Given the description of an element on the screen output the (x, y) to click on. 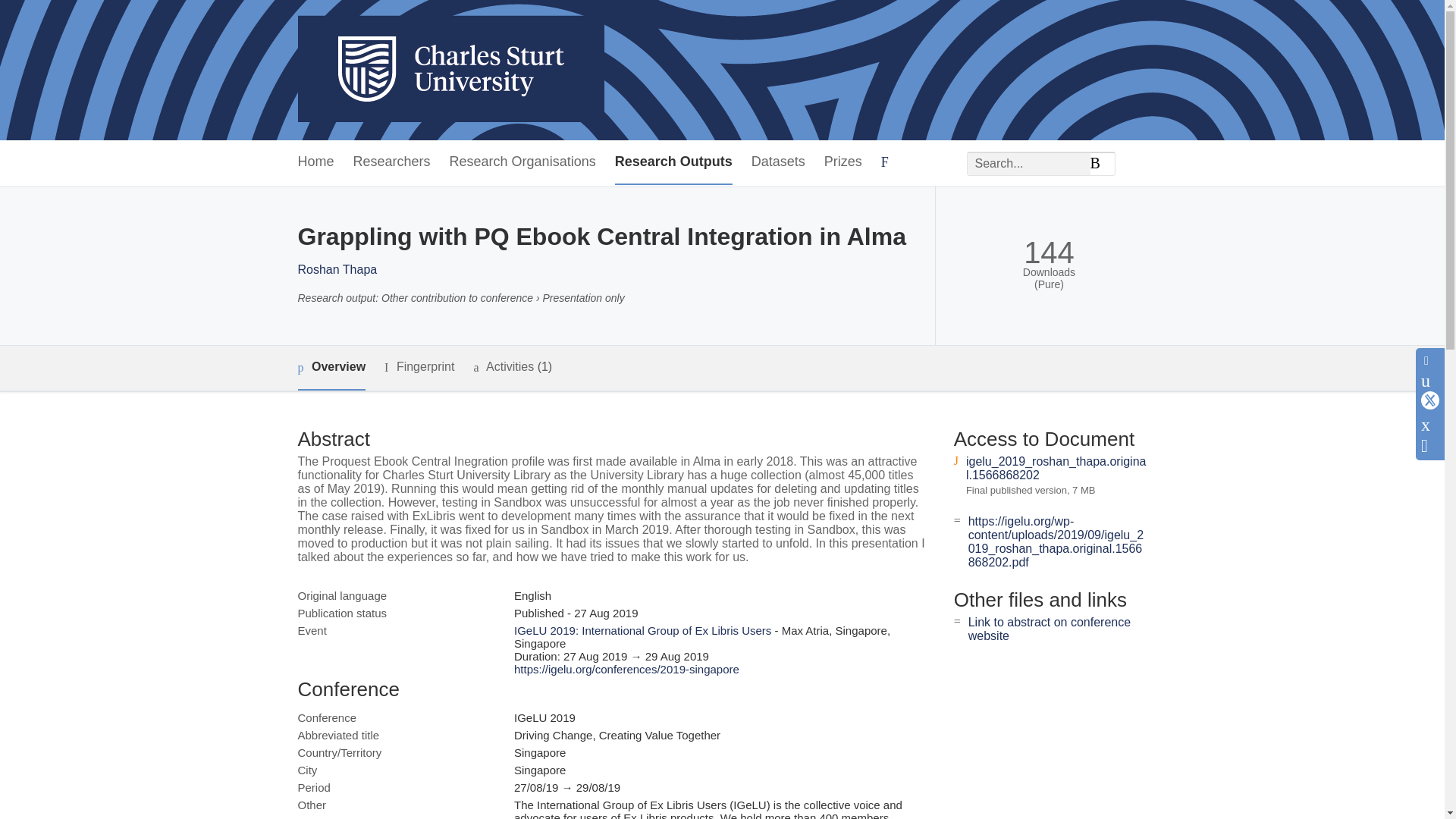
Research Outputs (673, 162)
Datasets (778, 162)
Overview (331, 367)
Fingerprint (419, 367)
Roshan Thapa (337, 269)
Link to abstract on conference website (1049, 628)
Charles Sturt University Research Output Home (450, 70)
IGeLU 2019: International Group of Ex Libris Users (642, 630)
Researchers (391, 162)
Research Organisations (522, 162)
